Given the description of an element on the screen output the (x, y) to click on. 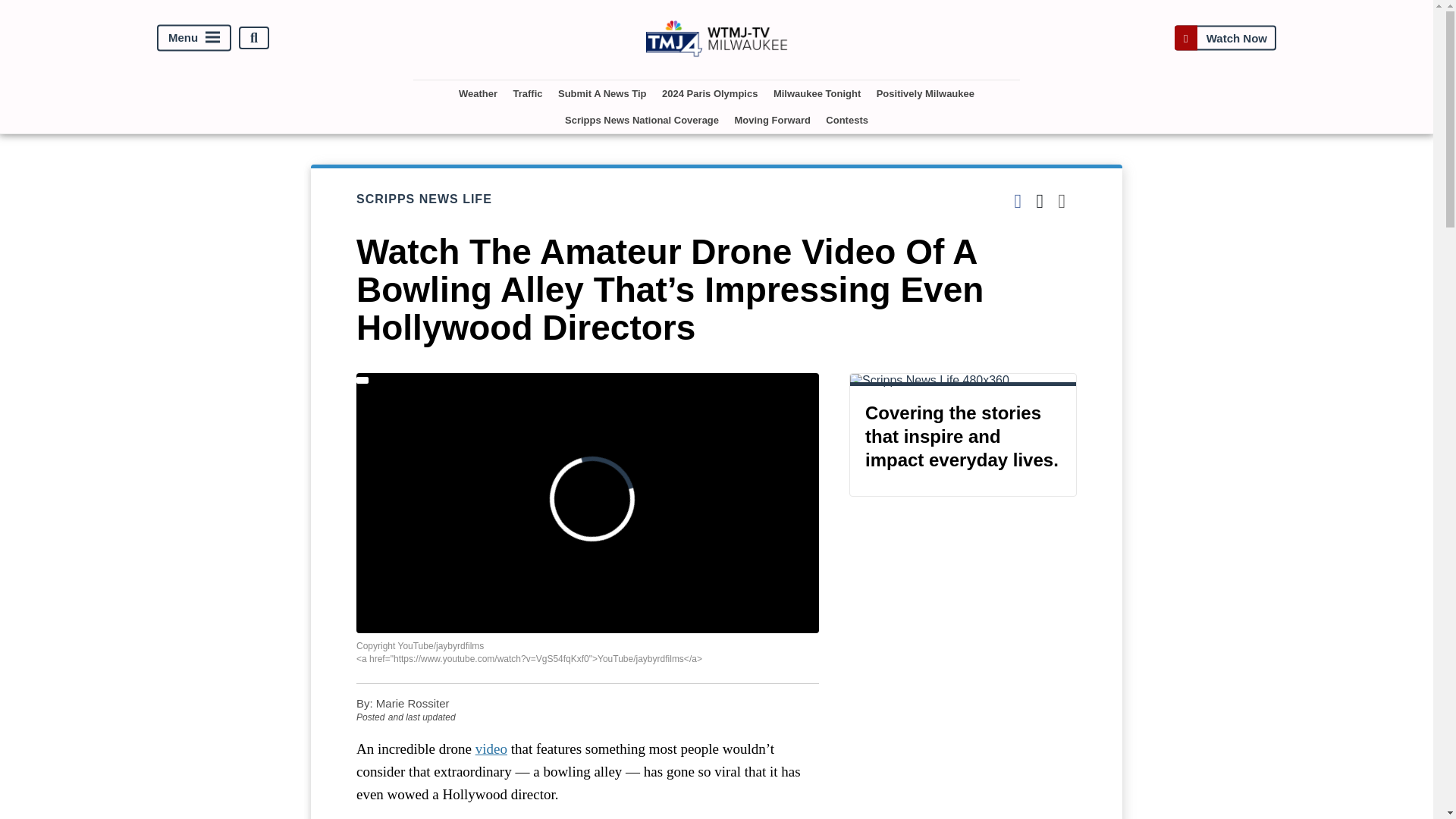
Menu (194, 38)
Watch Now (1224, 38)
